Given the description of an element on the screen output the (x, y) to click on. 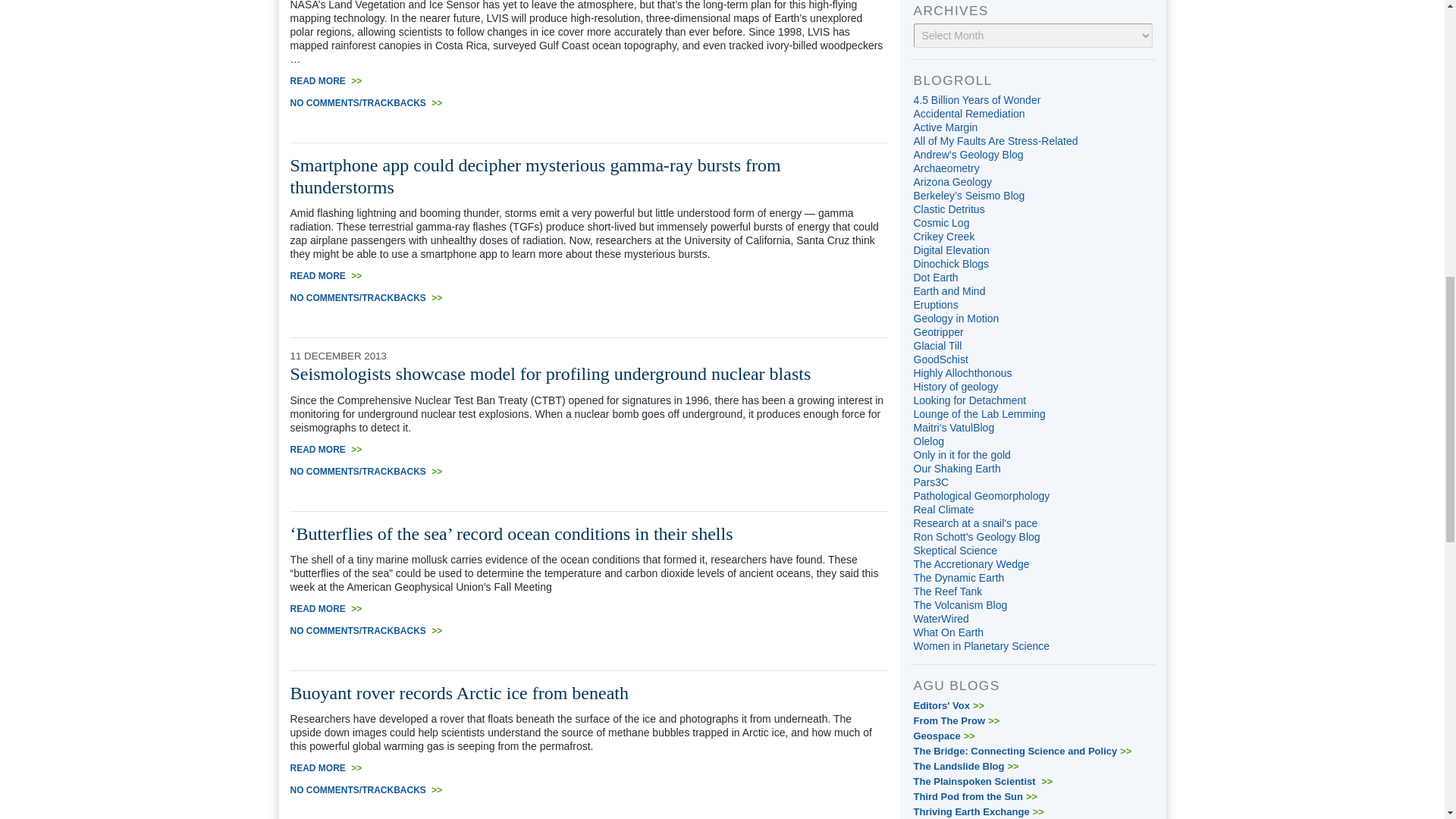
Buoyant rover records Arctic ice from beneath (458, 692)
